Given the description of an element on the screen output the (x, y) to click on. 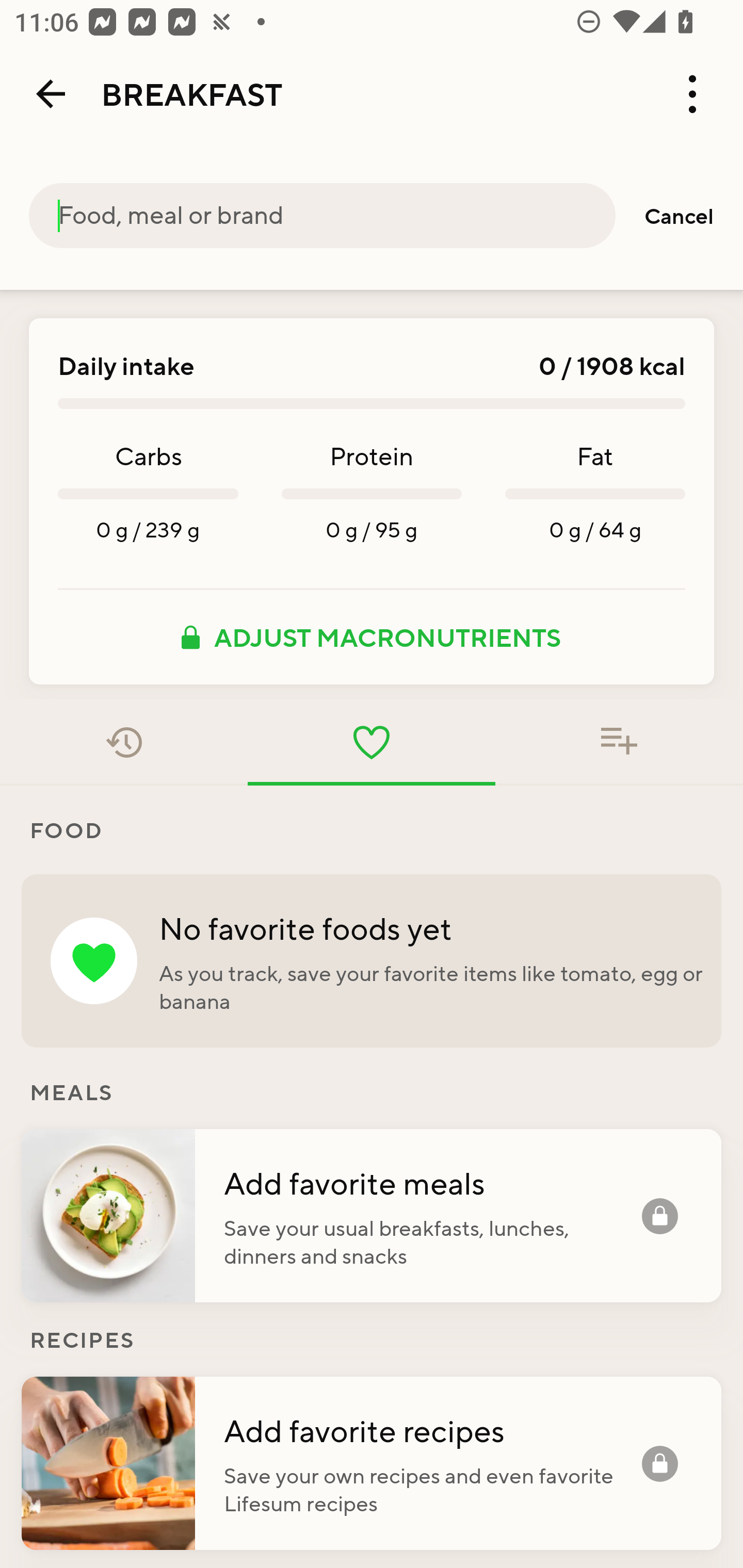
Back (50, 93)
Cancel (679, 215)
ADJUST MACRONUTRIENTS (371, 637)
Recent (123, 742)
Food added (619, 742)
Add favorite meals (432, 1182)
Add favorite recipes (432, 1429)
